Given the description of an element on the screen output the (x, y) to click on. 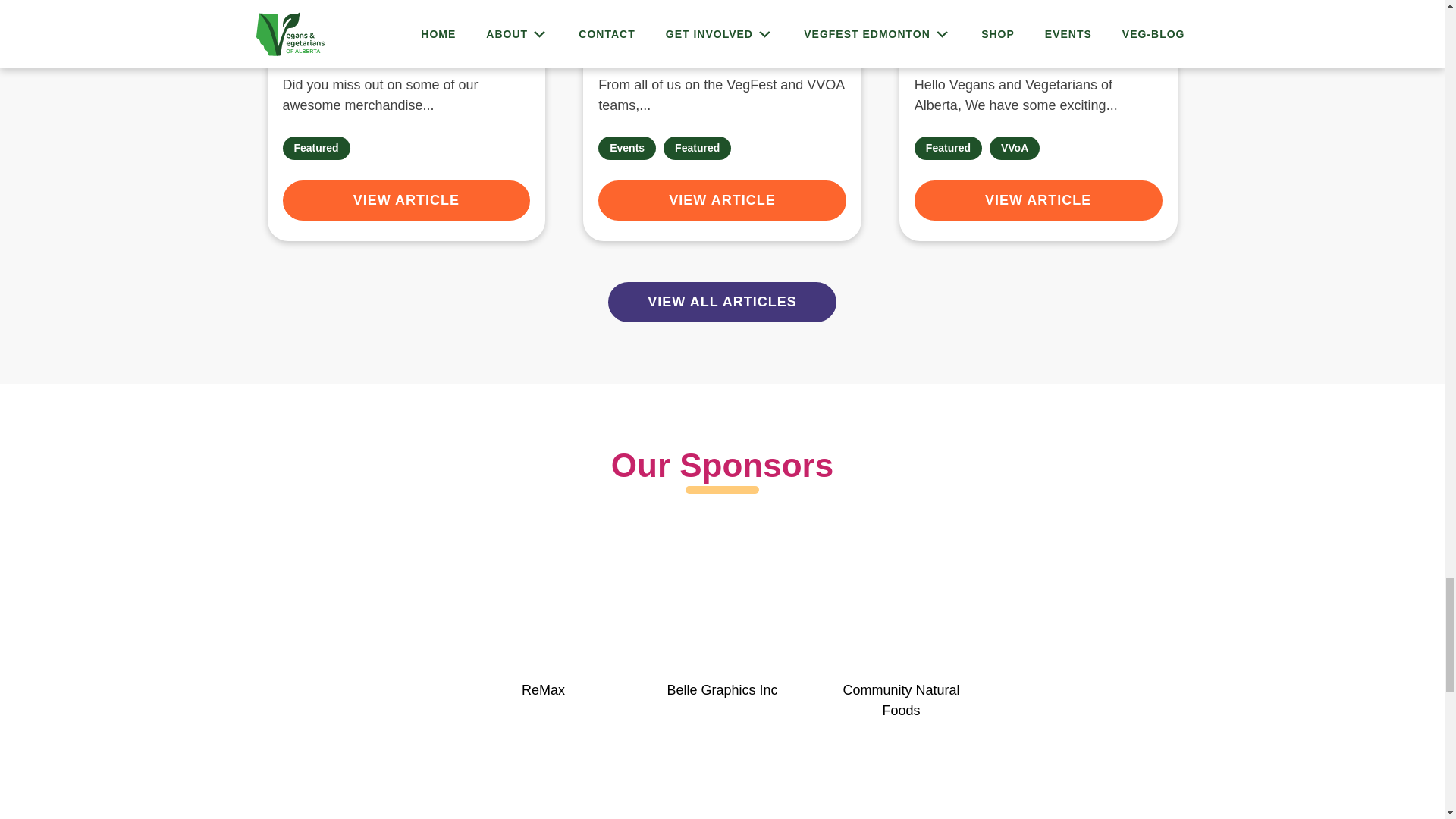
VIEW ARTICLE (405, 200)
Events (627, 147)
Featured (315, 147)
Featured (696, 147)
